Given the description of an element on the screen output the (x, y) to click on. 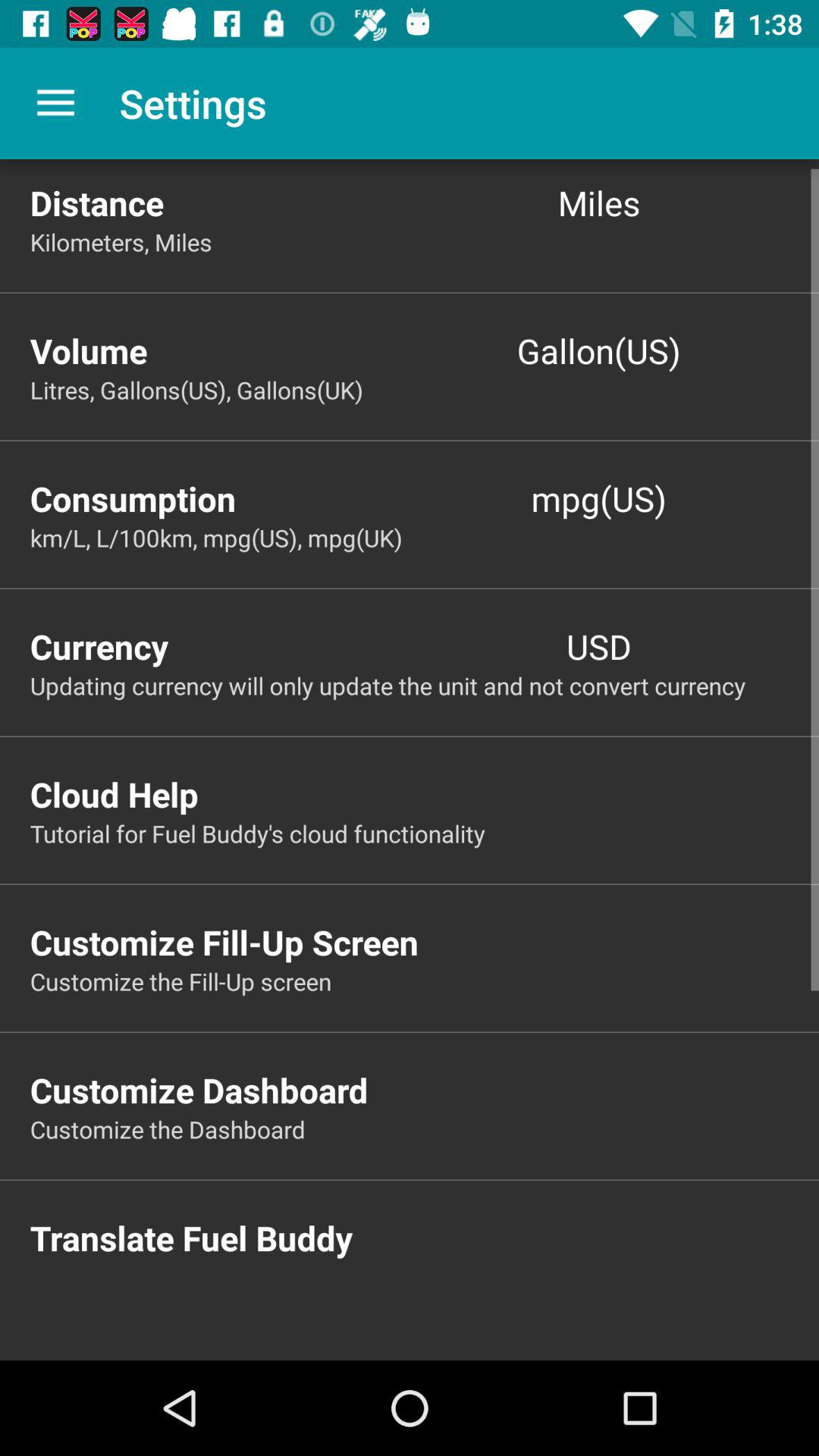
tap the item below volume item (424, 389)
